Given the description of an element on the screen output the (x, y) to click on. 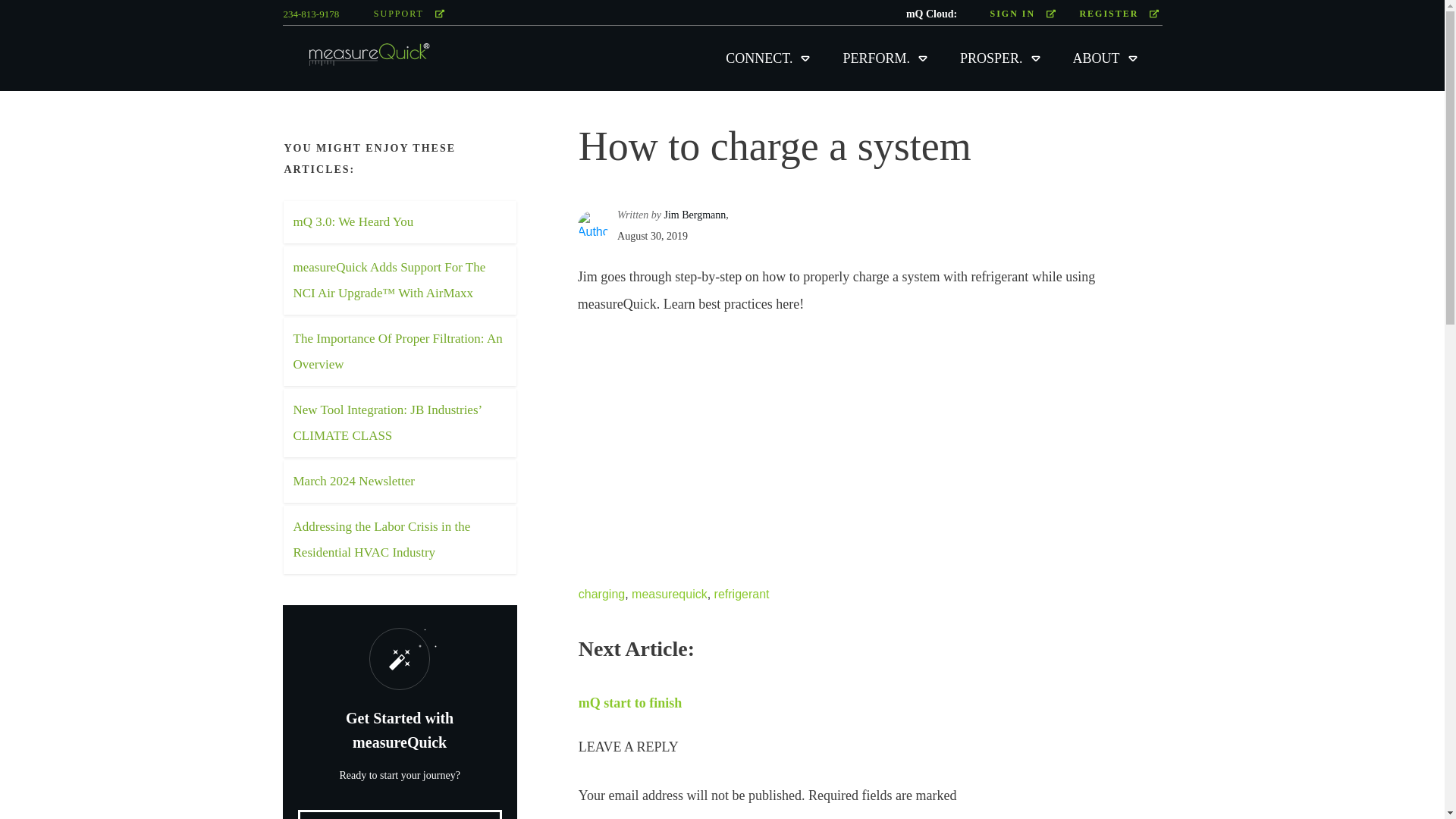
SUPPORT (408, 13)
charging (601, 594)
refrigerant (742, 594)
Jim Bergmann (694, 214)
REGISTER (1118, 13)
PROSPER. (1000, 58)
charging (601, 594)
234-813-9178 (311, 13)
Addressing the Labor Crisis in the Residential HVAC Industry (381, 539)
measurequick (669, 594)
